Given the description of an element on the screen output the (x, y) to click on. 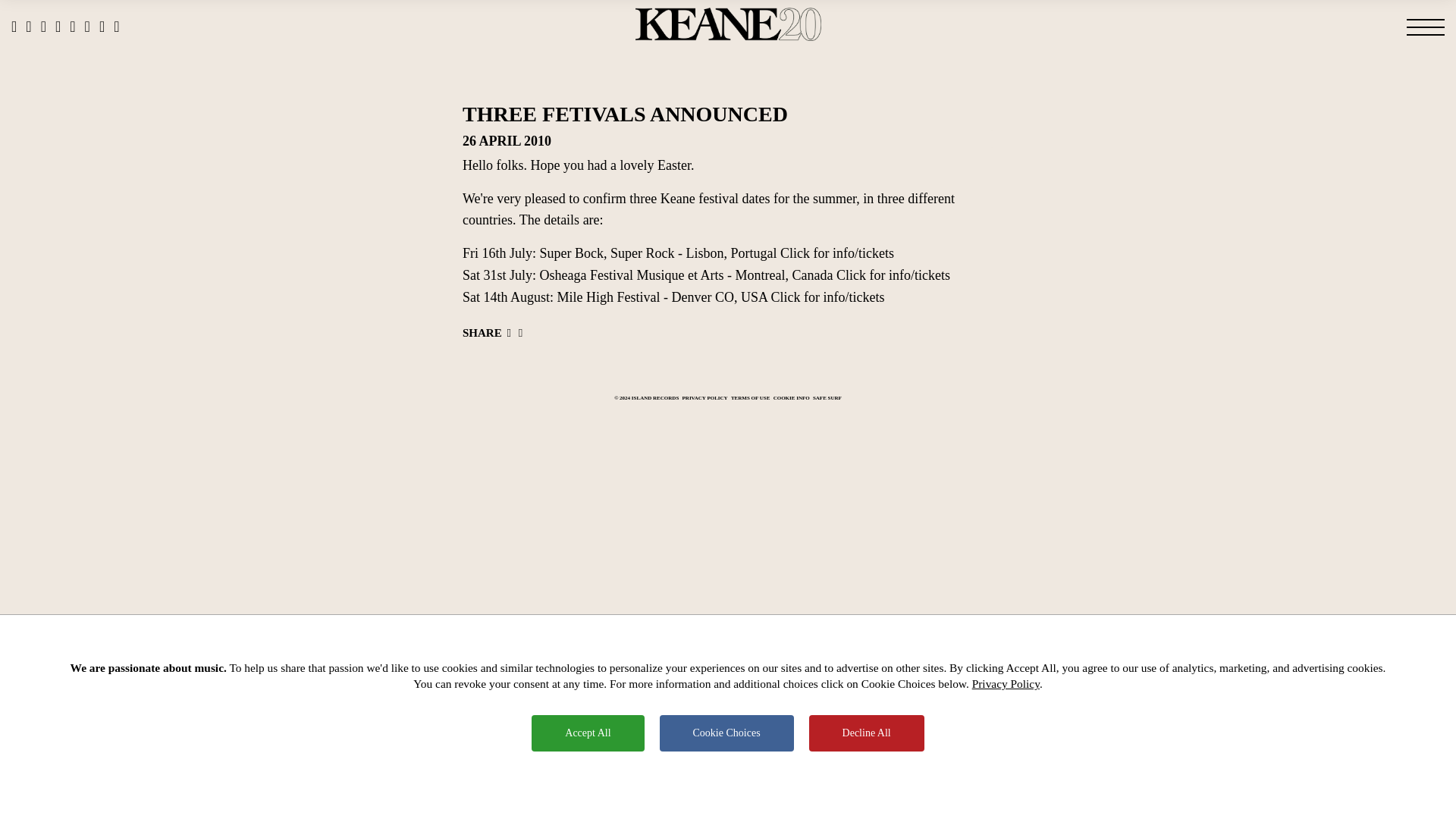
PRIVACY POLICY (705, 398)
TERMS OF USE (750, 398)
SAFE SURF (826, 398)
COOKIE INFO (791, 398)
